Given the description of an element on the screen output the (x, y) to click on. 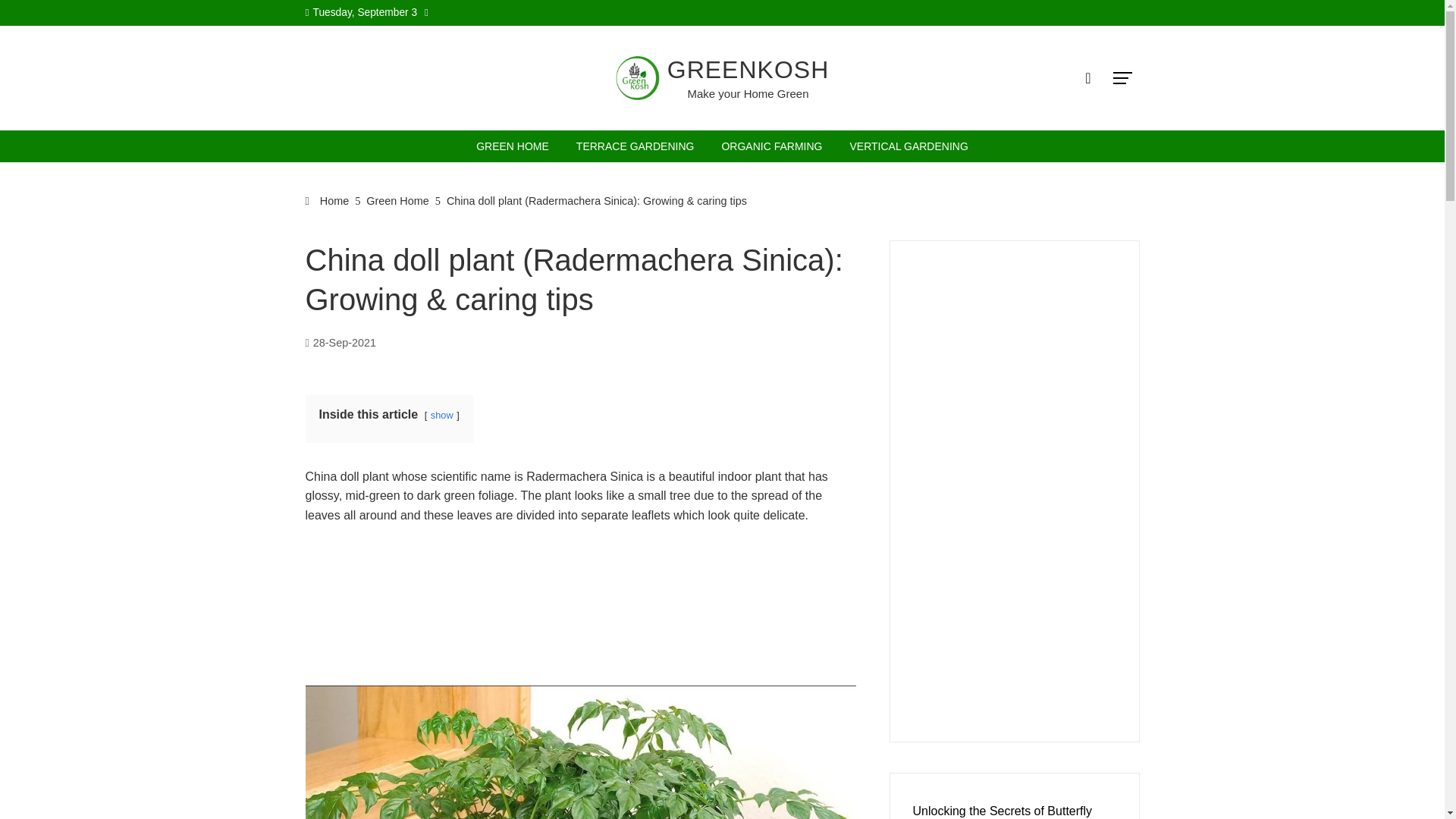
VERTICAL GARDENING (908, 146)
GREEN HOME (512, 146)
ORGANIC FARMING (771, 146)
Make your Home Green (747, 92)
Green Home (397, 200)
GREENKOSH (747, 69)
Home (326, 200)
show (441, 414)
TERRACE GARDENING (635, 146)
Advertisement (580, 616)
